Given the description of an element on the screen output the (x, y) to click on. 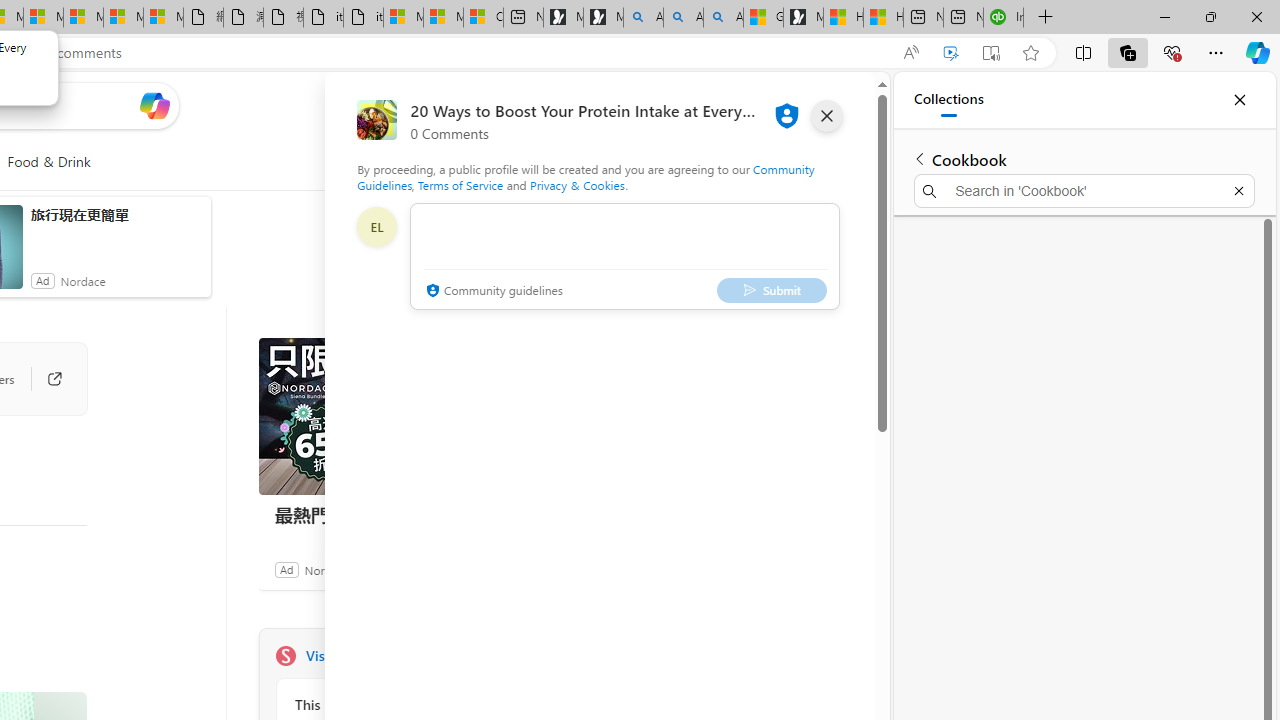
Nordace (326, 569)
Go to publisher's site (44, 378)
Microsoft Start Gaming (803, 17)
itconcepthk.com/projector_solutions.mp4 (363, 17)
Terms of Service (461, 184)
Community guidelines (492, 291)
